Given the description of an element on the screen output the (x, y) to click on. 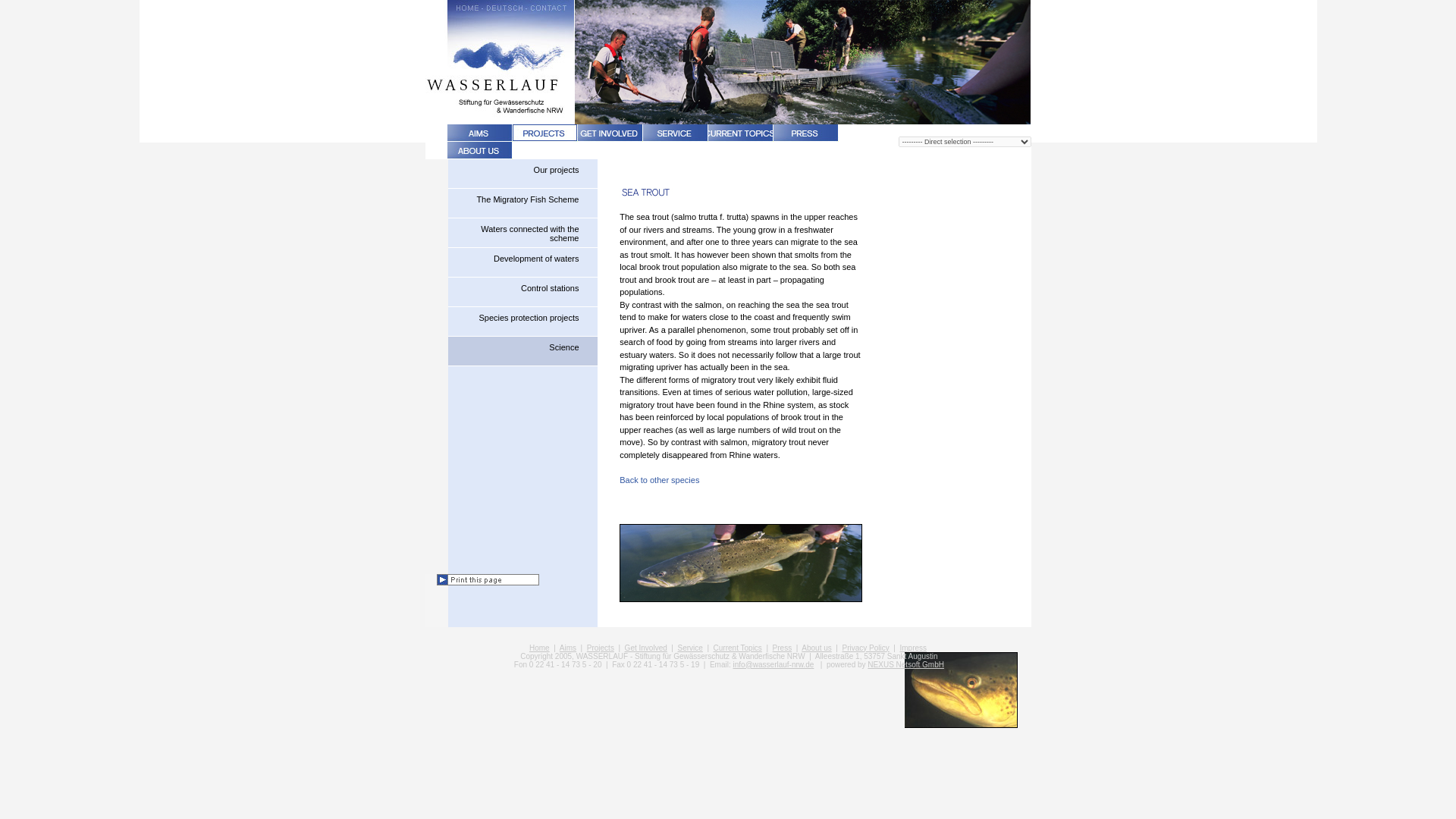
The Migratory Fish Scheme (521, 203)
Service (689, 646)
Current Topics (737, 646)
Our projects (521, 173)
Projects (600, 646)
Get Involved (645, 646)
Species protection projects (521, 321)
Control stations (521, 292)
About us (816, 646)
Waters connected with the scheme (521, 233)
